Given the description of an element on the screen output the (x, y) to click on. 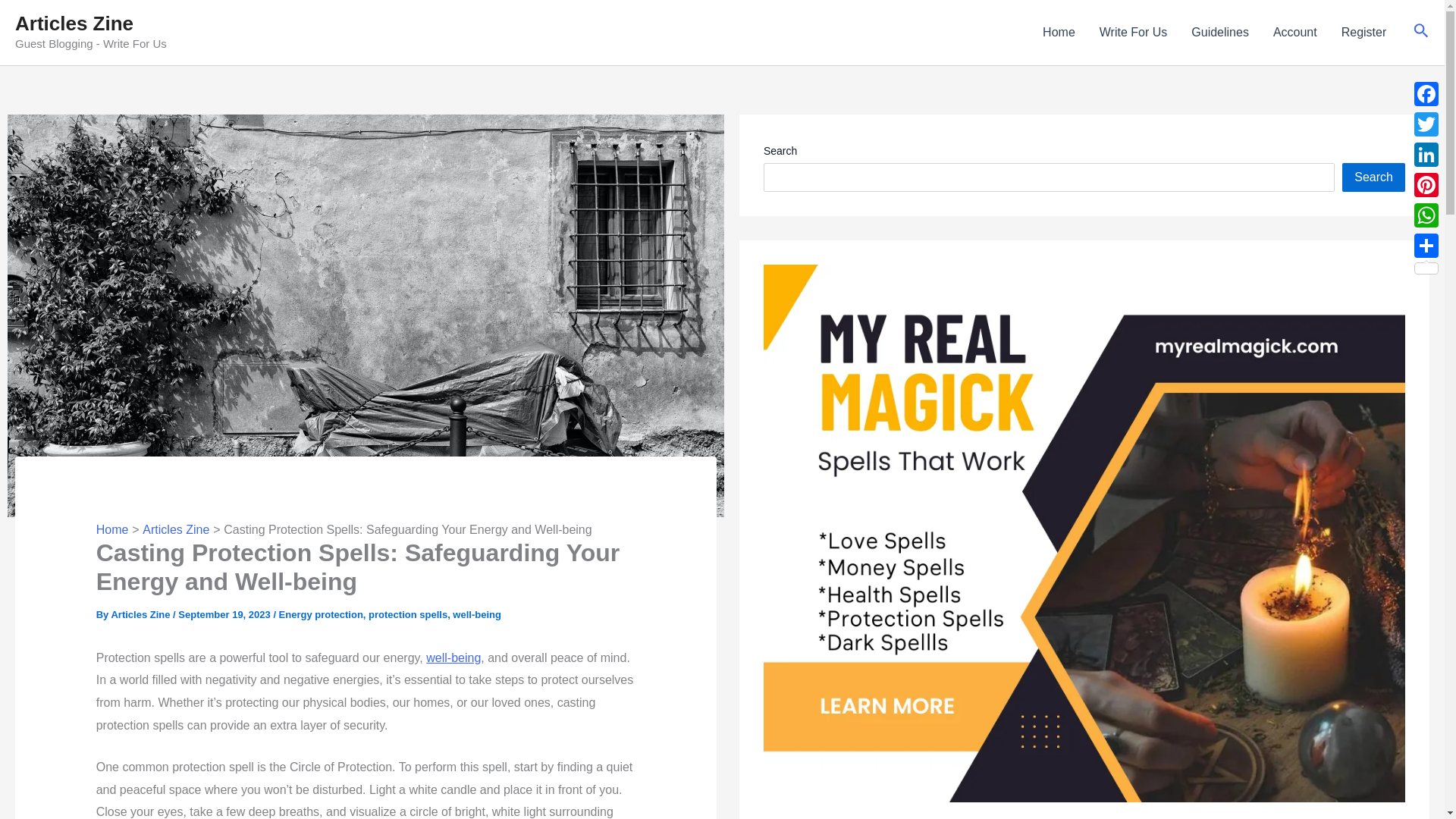
Write For Us (1133, 32)
Home (1058, 32)
Articles Zine (141, 614)
Articles Zine (175, 529)
Account (1294, 32)
Energy protection (320, 614)
Articles Zine (73, 23)
View all posts by Articles Zine (141, 614)
protection spells (407, 614)
